Given the description of an element on the screen output the (x, y) to click on. 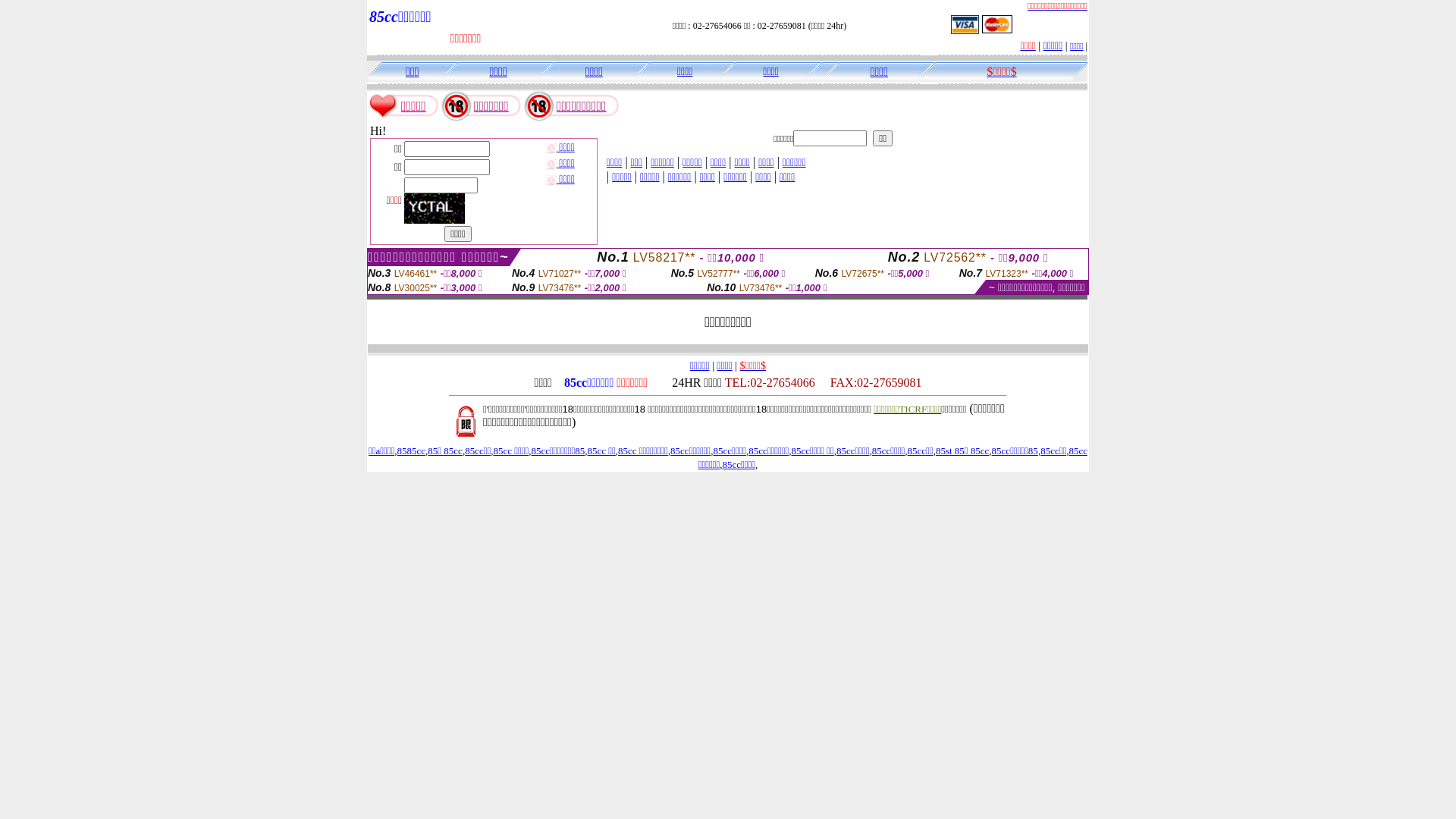
8585cc Element type: text (411, 450)
